Given the description of an element on the screen output the (x, y) to click on. 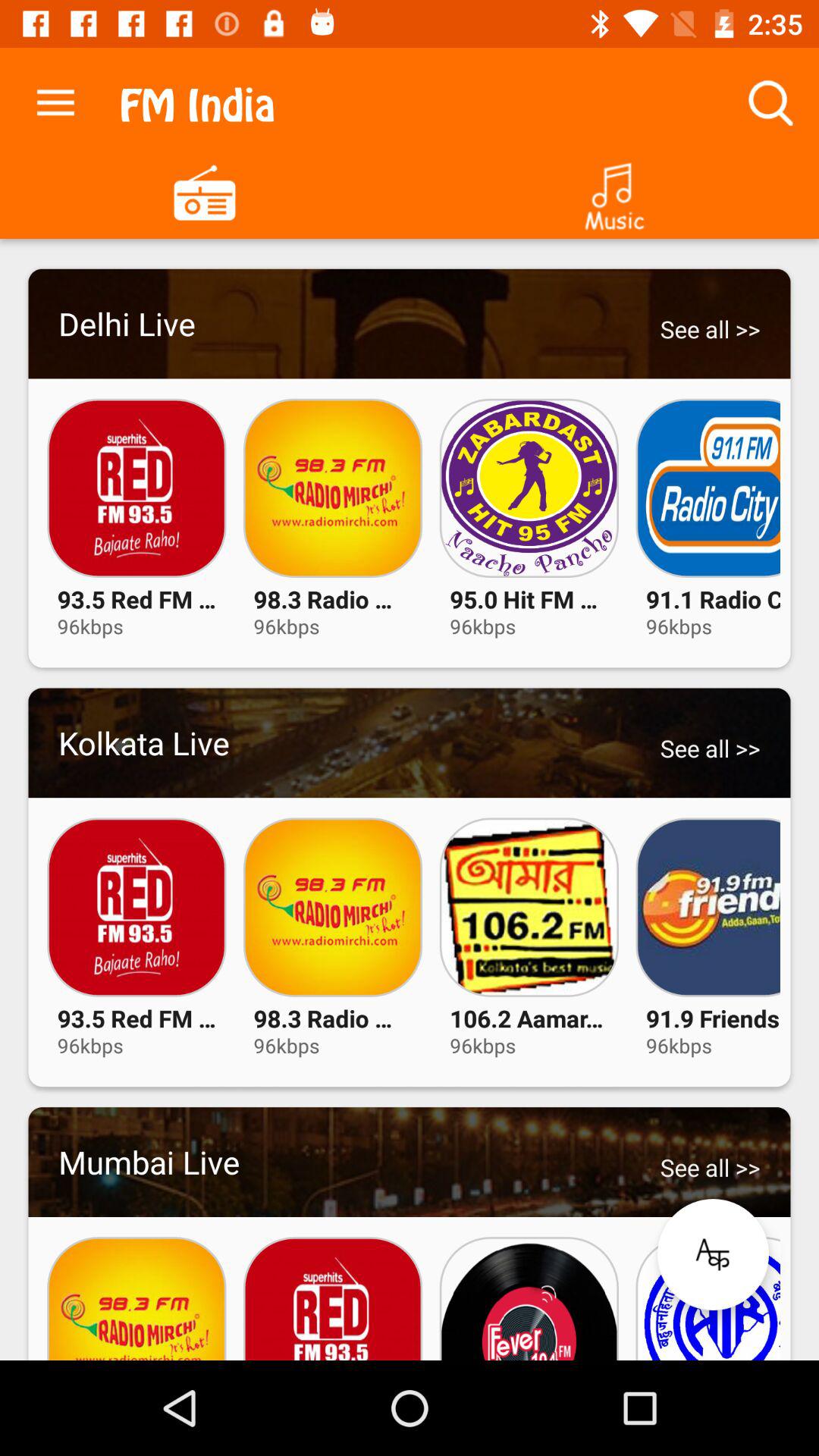
choose icon to the left of fm india app (55, 99)
